Given the description of an element on the screen output the (x, y) to click on. 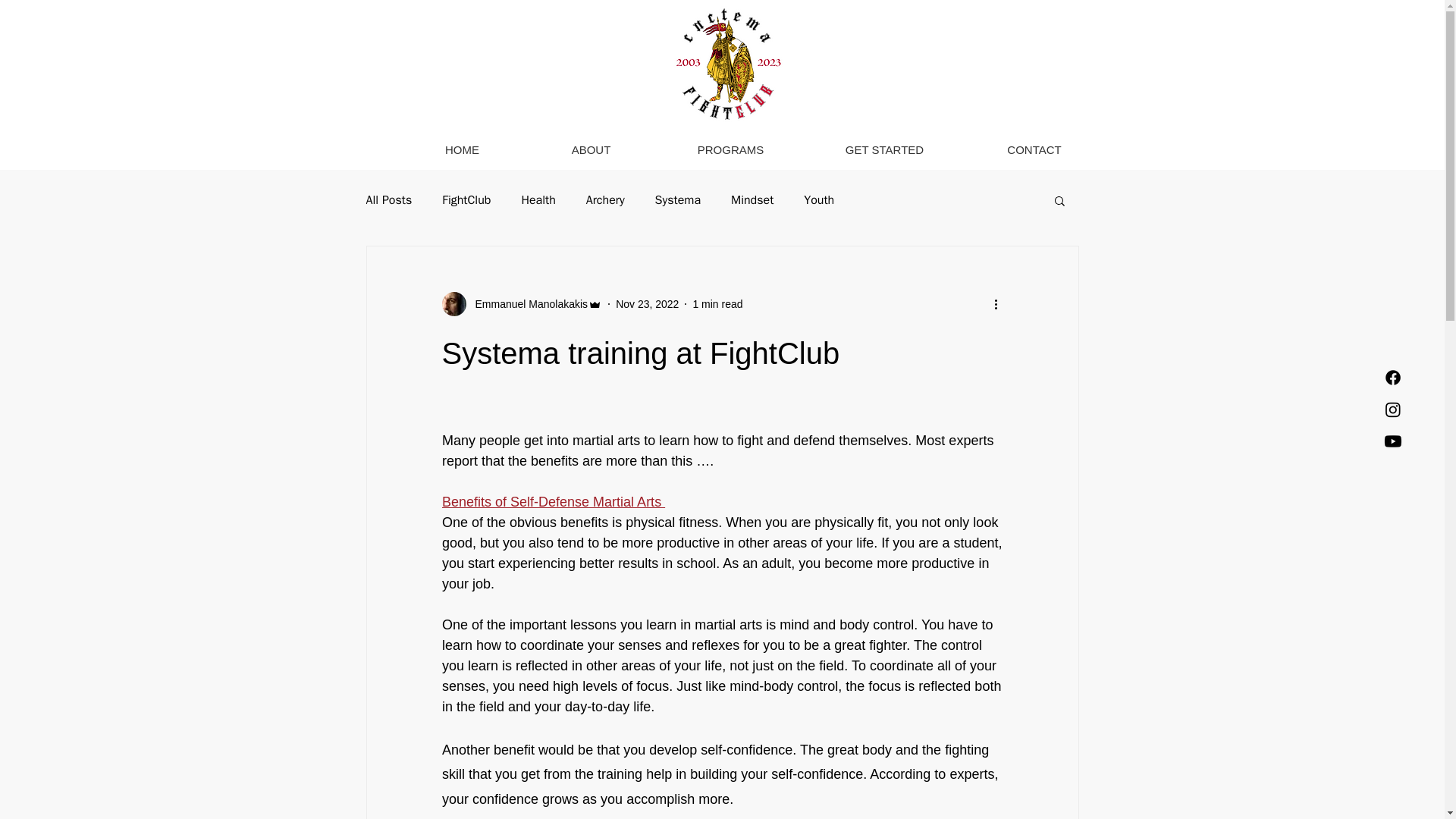
Benefits of Self-Defense Martial Arts  (552, 501)
CONTACT (1034, 149)
FightClub (466, 200)
All Posts (388, 200)
1 min read (717, 303)
Systema (677, 200)
Emmanuel Manolakakis (521, 303)
Health (537, 200)
Emmanuel Manolakakis (526, 303)
Archery (605, 200)
